Given the description of an element on the screen output the (x, y) to click on. 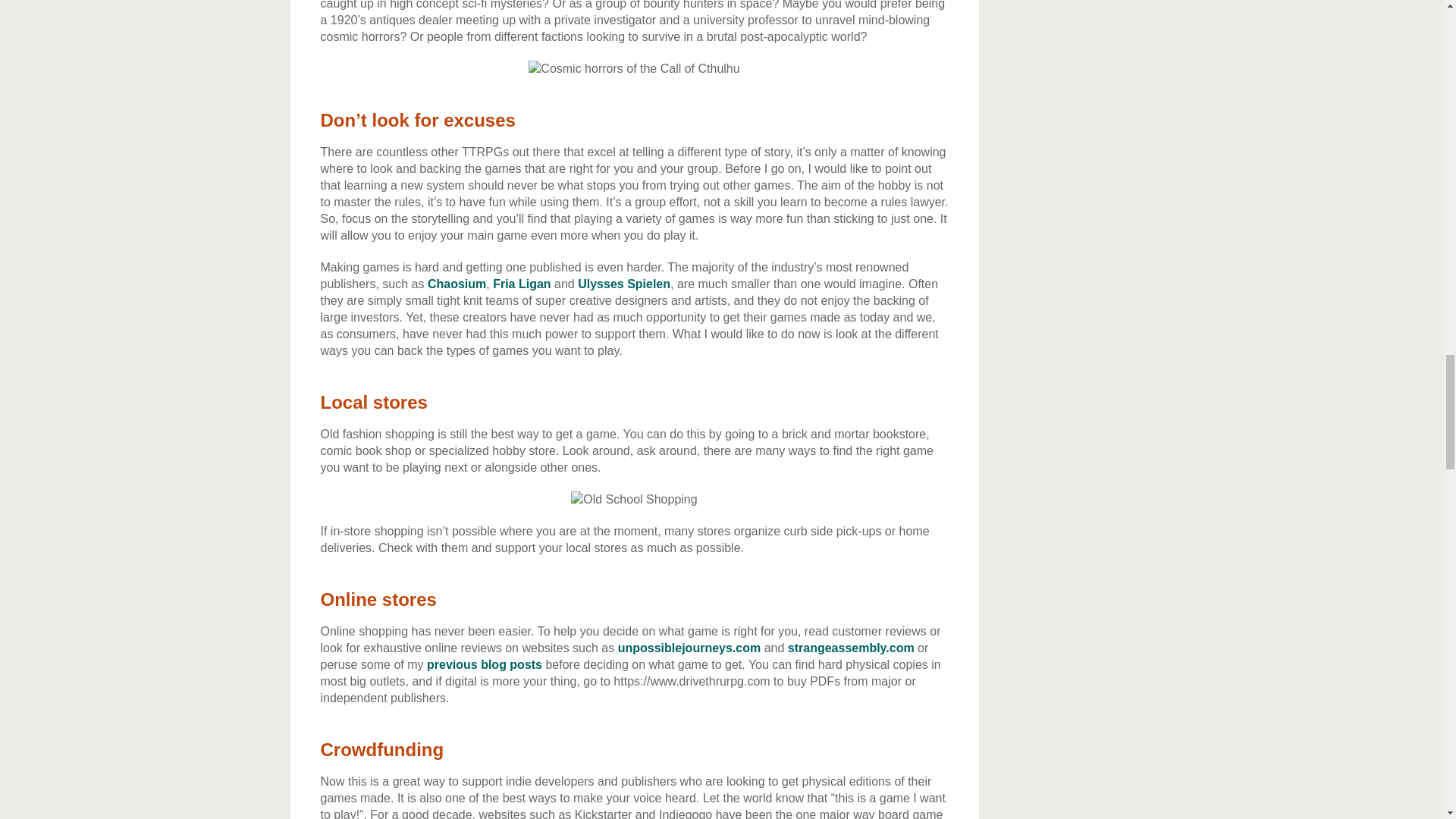
Fria Ligan - Free League (521, 283)
Strange Assembly (850, 647)
Chaosium (457, 283)
Unpossible Journeys (688, 647)
The Voyager's Workshop Blog (483, 664)
Ulisses Spielen (623, 283)
